Given the description of an element on the screen output the (x, y) to click on. 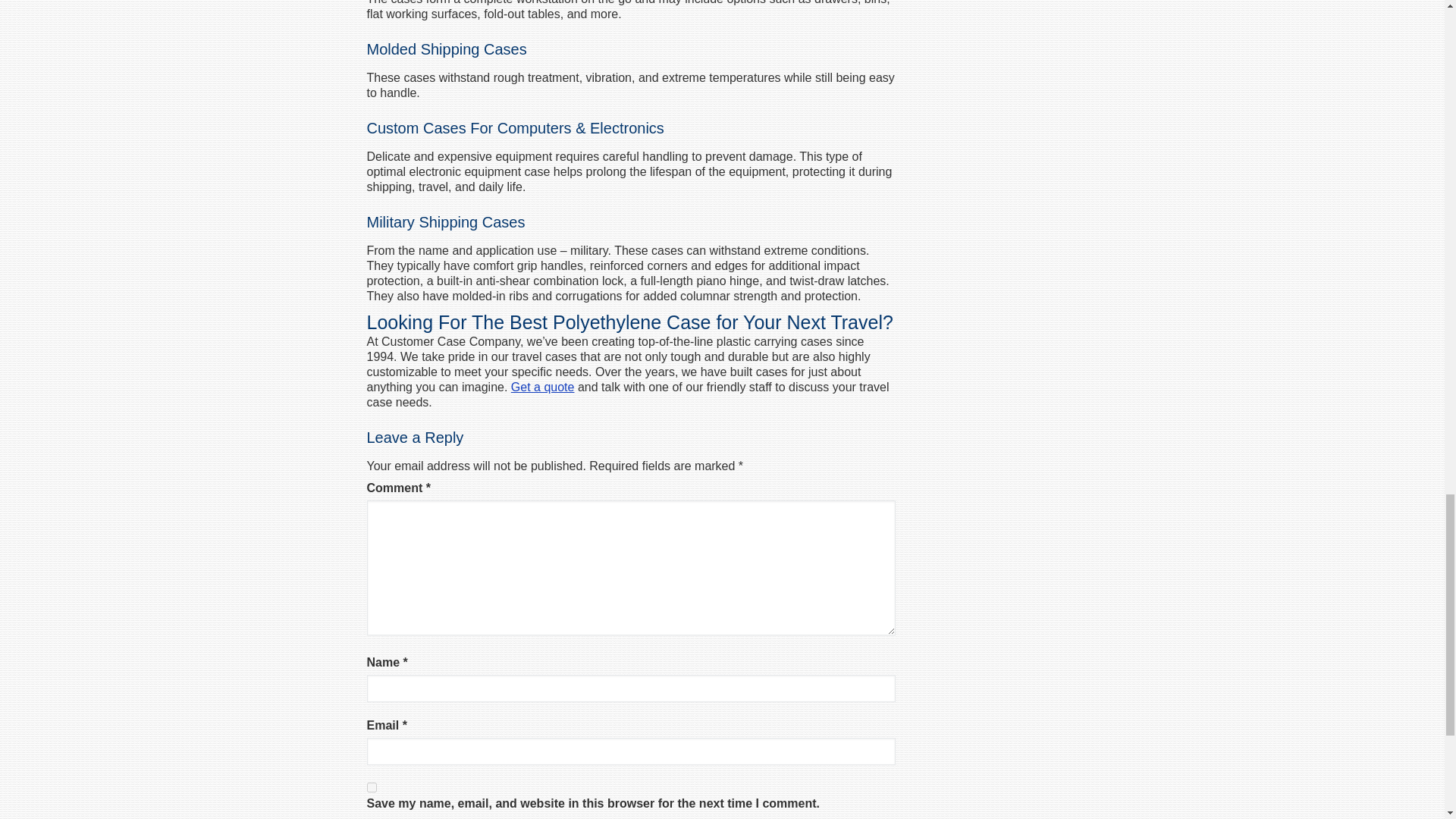
yes (371, 787)
